Given the description of an element on the screen output the (x, y) to click on. 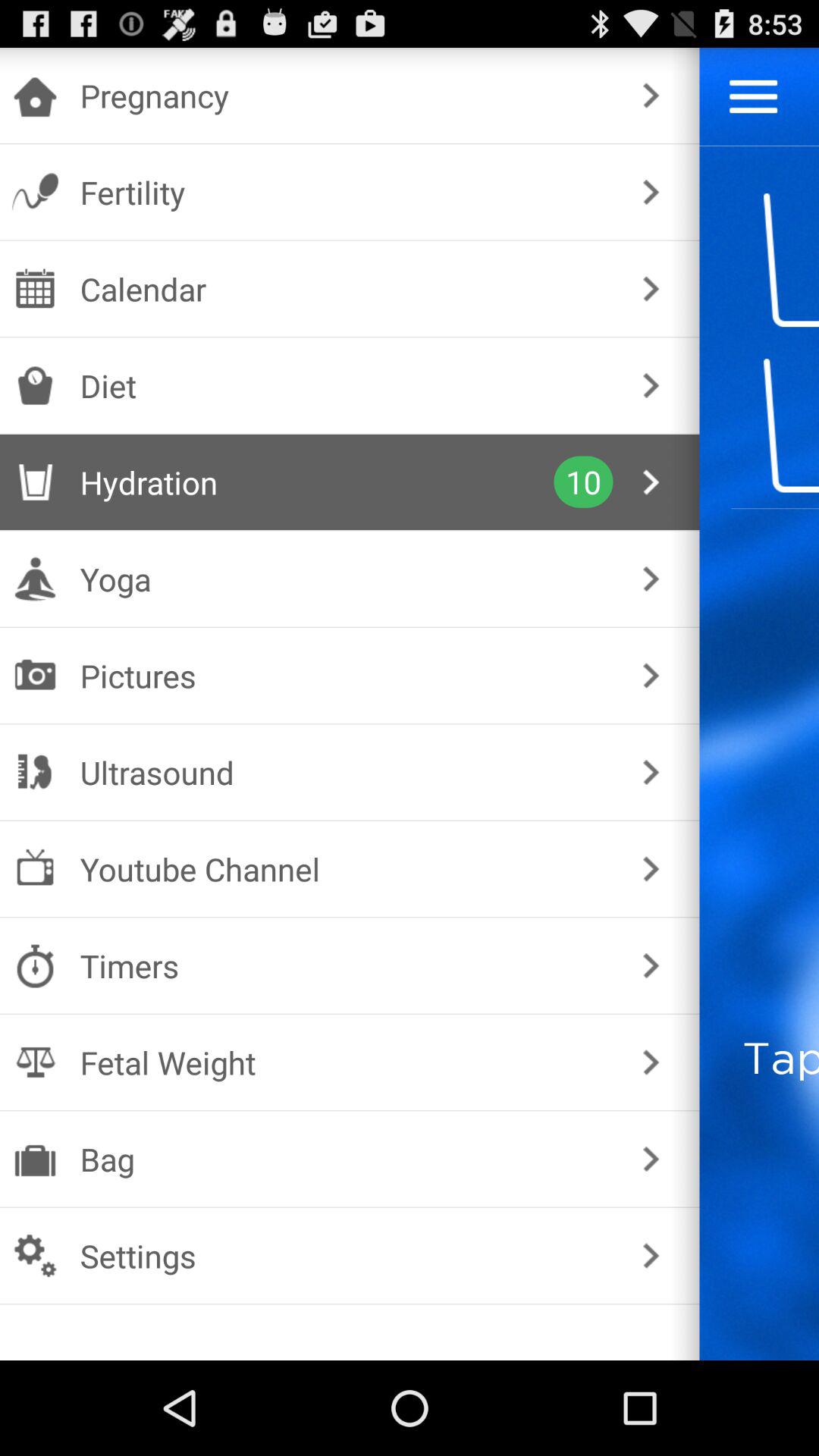
press yoga checkbox (346, 578)
